Given the description of an element on the screen output the (x, y) to click on. 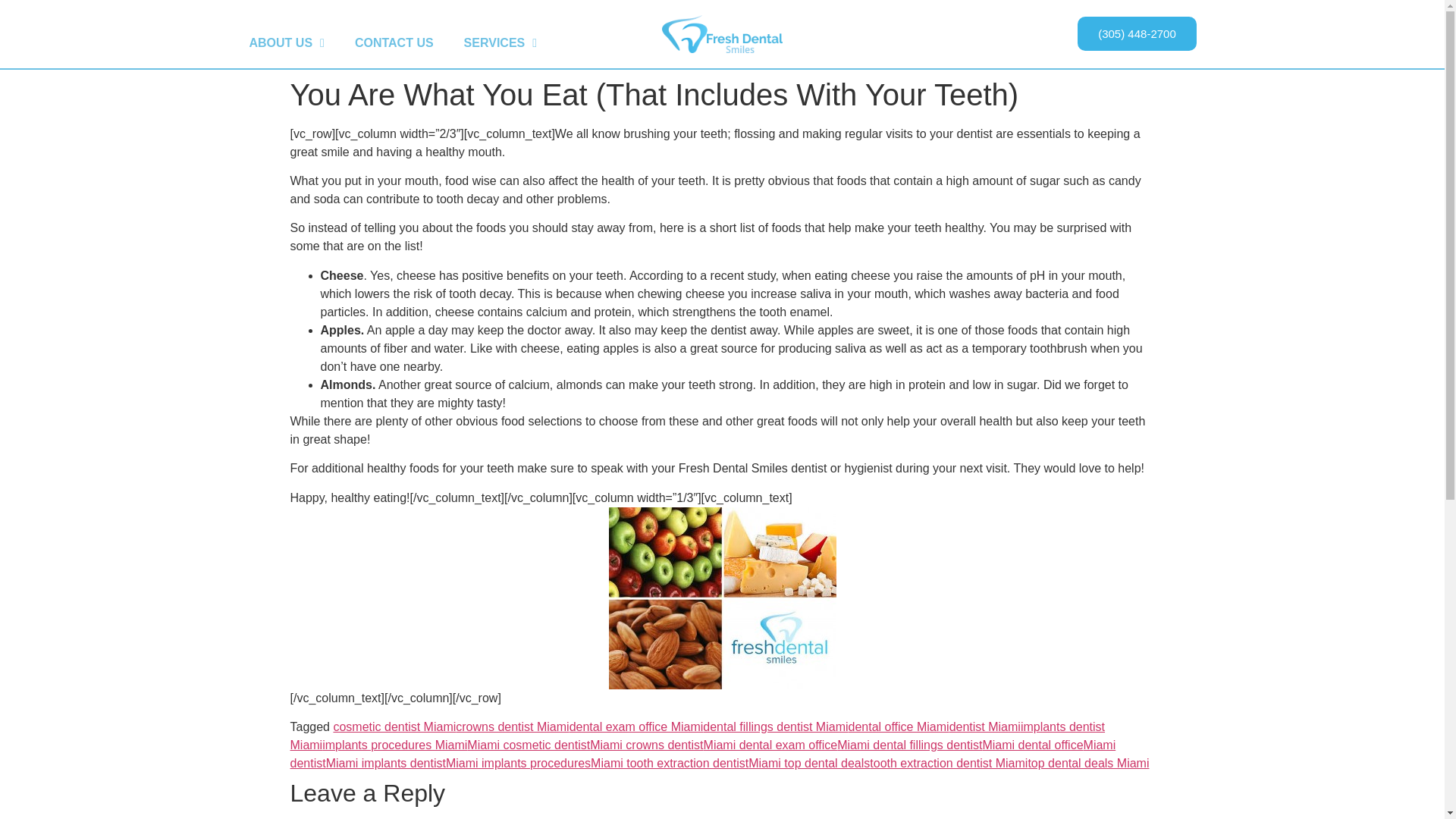
SERVICES (499, 42)
CONTACT US (393, 42)
ABOUT US (285, 42)
